Given the description of an element on the screen output the (x, y) to click on. 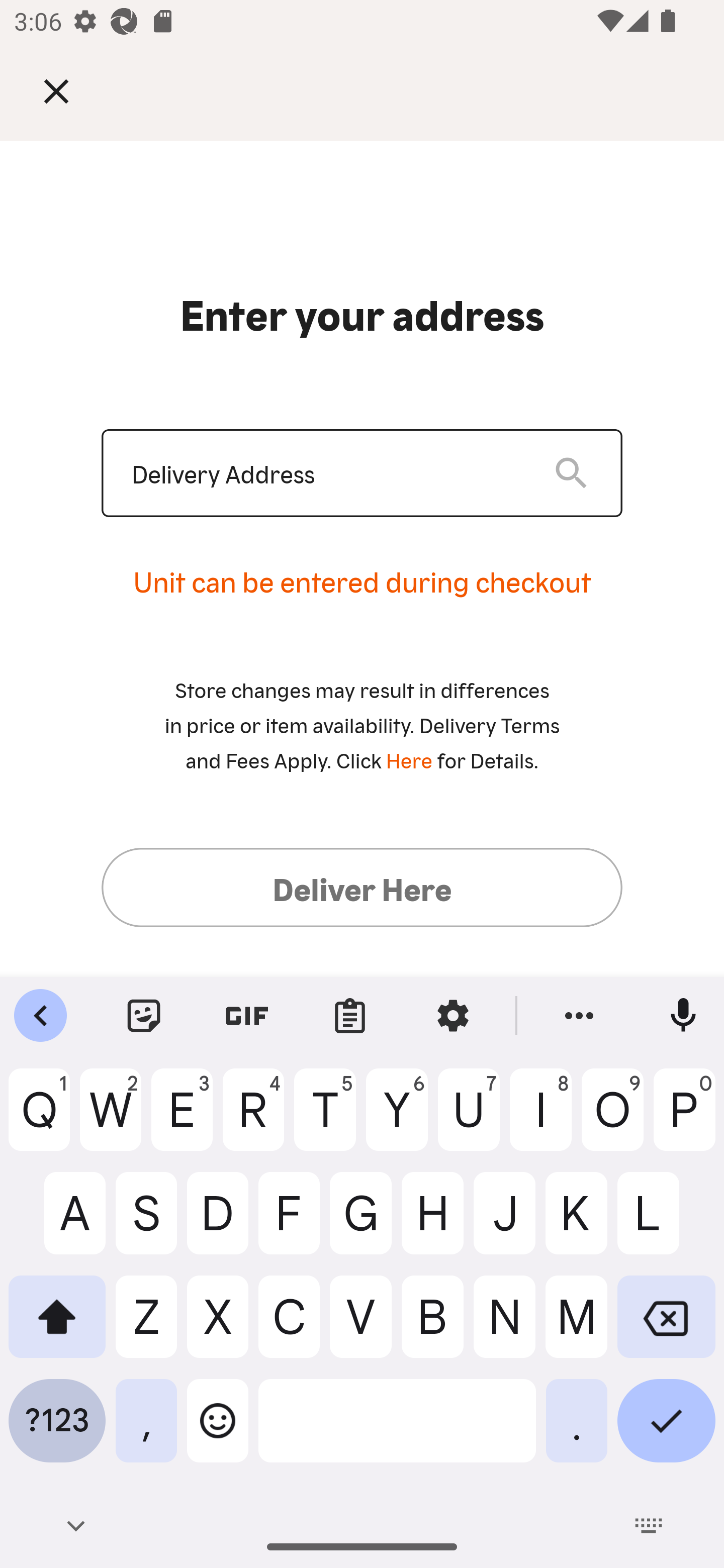
 (70, 90)
Delivery Address (326, 473)
Deliver Here (361, 887)
